Given the description of an element on the screen output the (x, y) to click on. 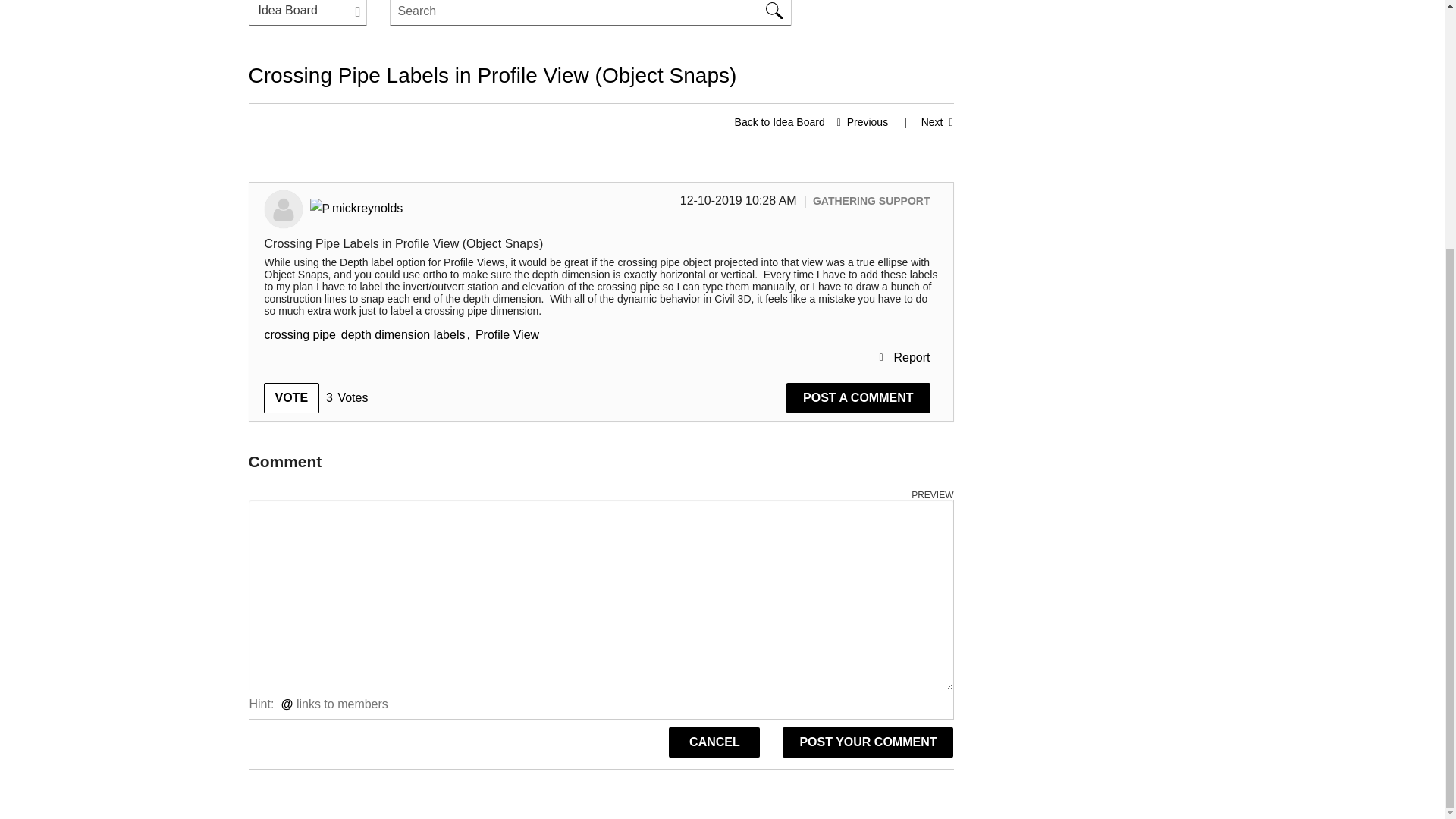
Search (774, 12)
Cancel (714, 742)
Previous (858, 121)
Search (774, 12)
Post Your Comment (868, 742)
Search (591, 12)
GATHERING SUPPORT (871, 200)
Profile View (507, 334)
Participant (318, 209)
